Given the description of an element on the screen output the (x, y) to click on. 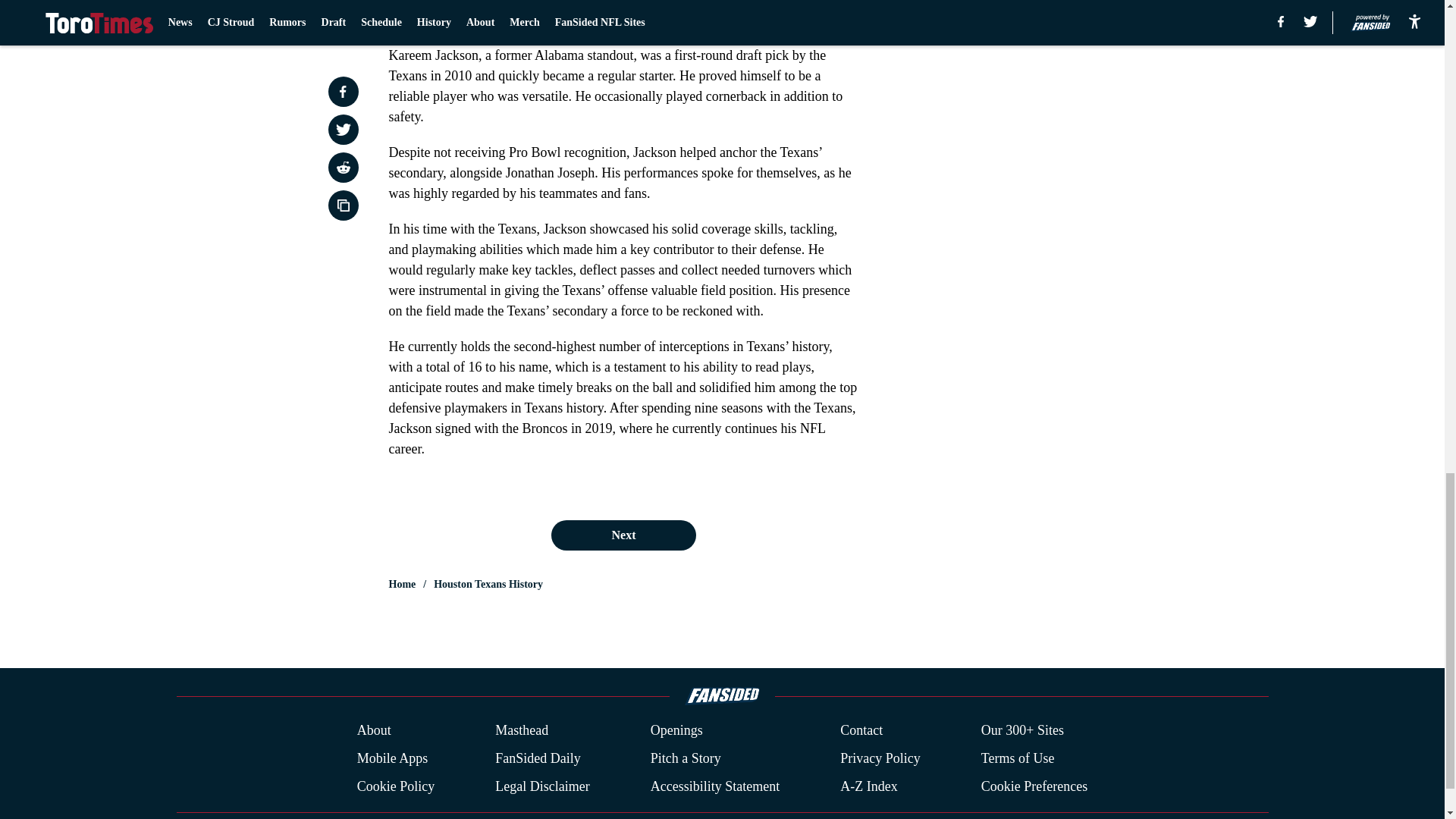
Cookie Policy (395, 786)
Pitch a Story (685, 758)
Houston Texans History (488, 584)
Contact (861, 730)
Legal Disclaimer (542, 786)
Home (401, 584)
Mobile Apps (392, 758)
Privacy Policy (880, 758)
FanSided Daily (537, 758)
Masthead (521, 730)
Next (622, 535)
Terms of Use (1017, 758)
Openings (676, 730)
About (373, 730)
